Given the description of an element on the screen output the (x, y) to click on. 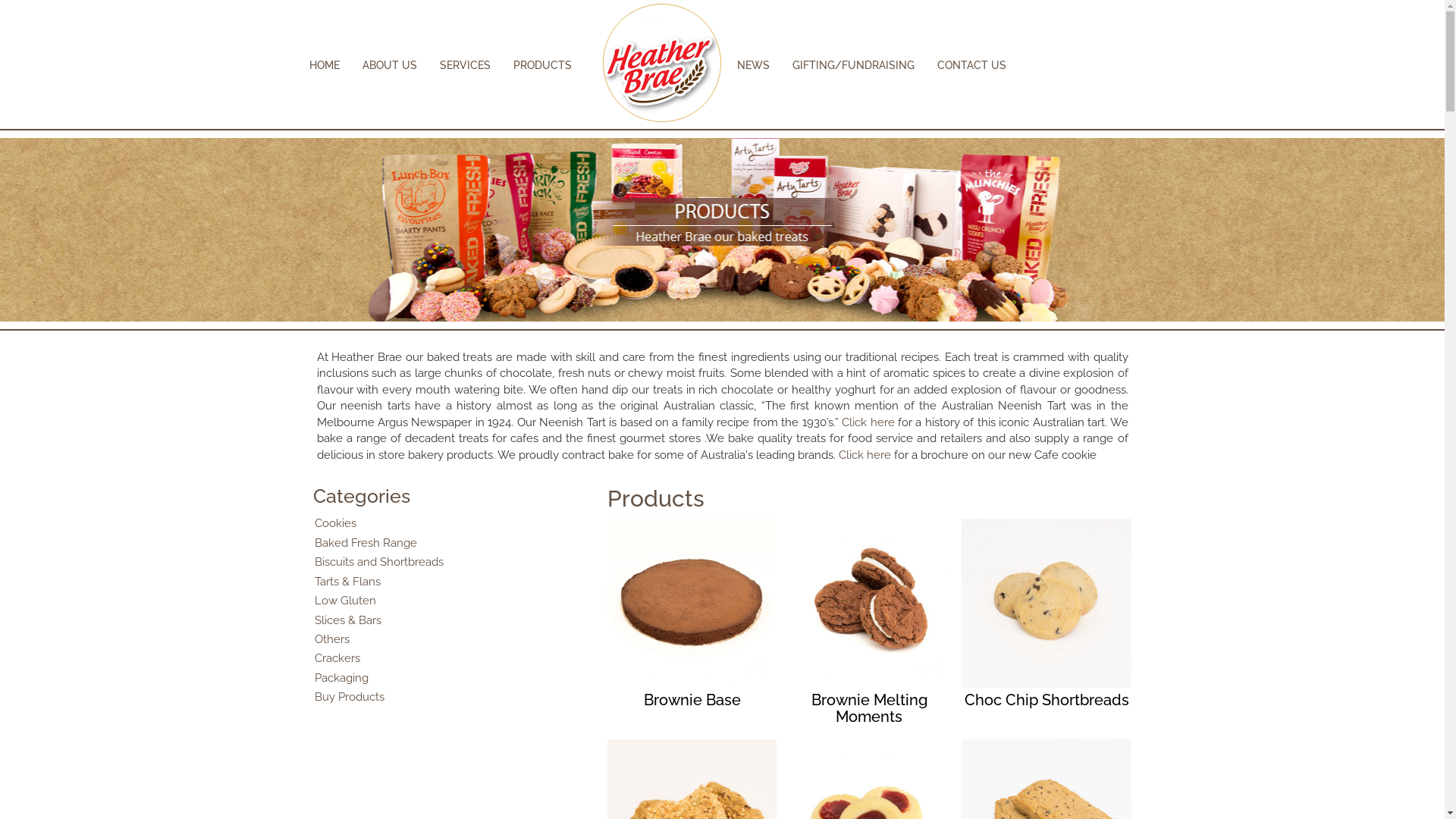
Click here Element type: text (864, 454)
Biscuits and Shortbreads Element type: text (377, 561)
HOME Element type: text (324, 64)
GIFTING/FUNDRAISING Element type: text (852, 64)
Buy Products Element type: text (348, 696)
Brownie Melting Moments Element type: text (868, 623)
Choc Chip Shortbreads Element type: text (1045, 615)
Brownie Base Element type: text (691, 615)
Packaging Element type: text (340, 677)
Slices & Bars Element type: text (346, 620)
CONTACT US Element type: text (971, 64)
Tarts & Flans Element type: text (346, 581)
ABOUT US Element type: text (389, 64)
Baked Fresh Range Element type: text (364, 542)
Others Element type: text (330, 639)
Click here Element type: text (867, 422)
Low Gluten Element type: text (344, 600)
Crackers Element type: text (336, 658)
PRODUCTS Element type: text (541, 64)
NEWS Element type: text (753, 64)
Cookies Element type: text (334, 523)
SERVICES Element type: text (464, 64)
